Given the description of an element on the screen output the (x, y) to click on. 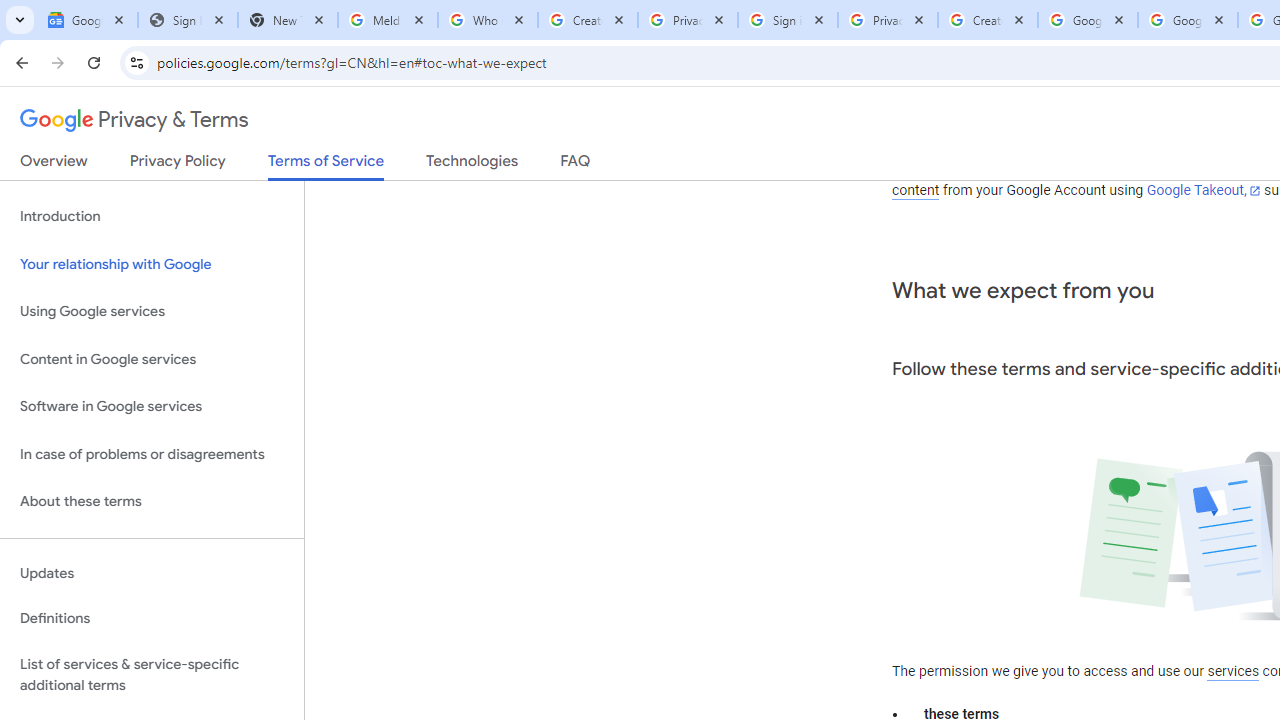
Your relationship with Google (152, 263)
Software in Google services (152, 407)
Google News (87, 20)
